Given the description of an element on the screen output the (x, y) to click on. 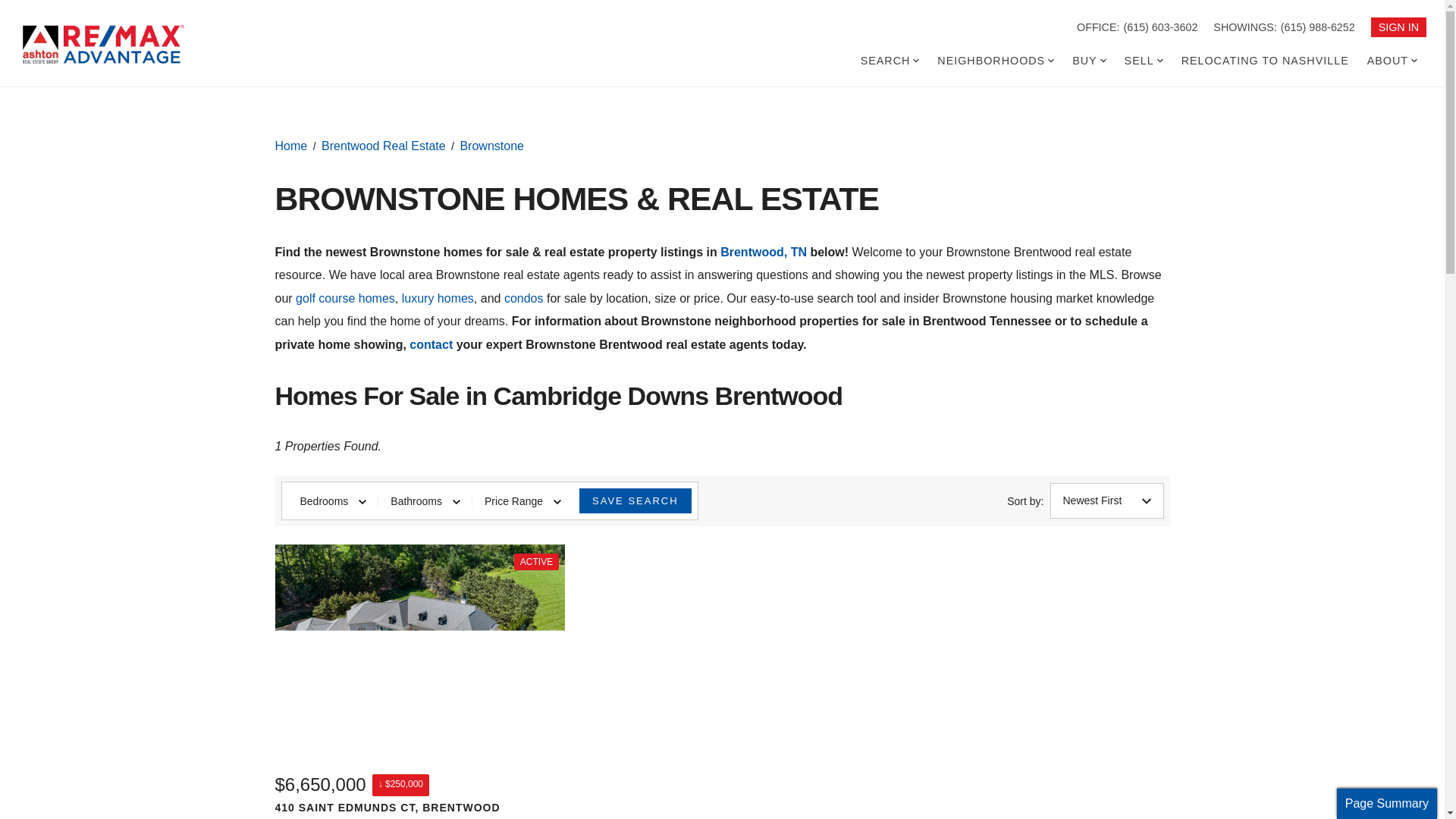
SEARCH (889, 60)
SIGN IN (1398, 26)
Page Summary (1386, 803)
NEIGHBORHOODS (995, 60)
